Given the description of an element on the screen output the (x, y) to click on. 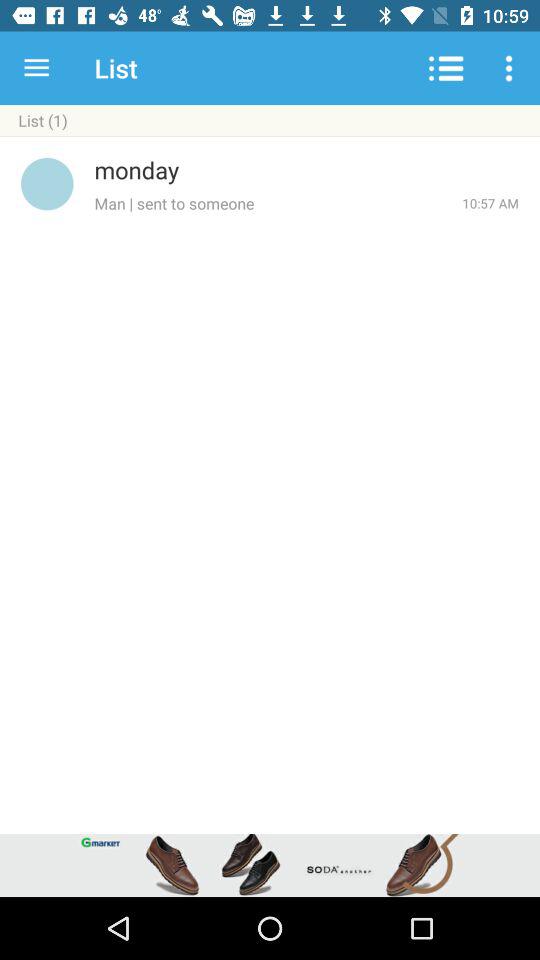
open the item to the right of the man sent to item (490, 203)
